Given the description of an element on the screen output the (x, y) to click on. 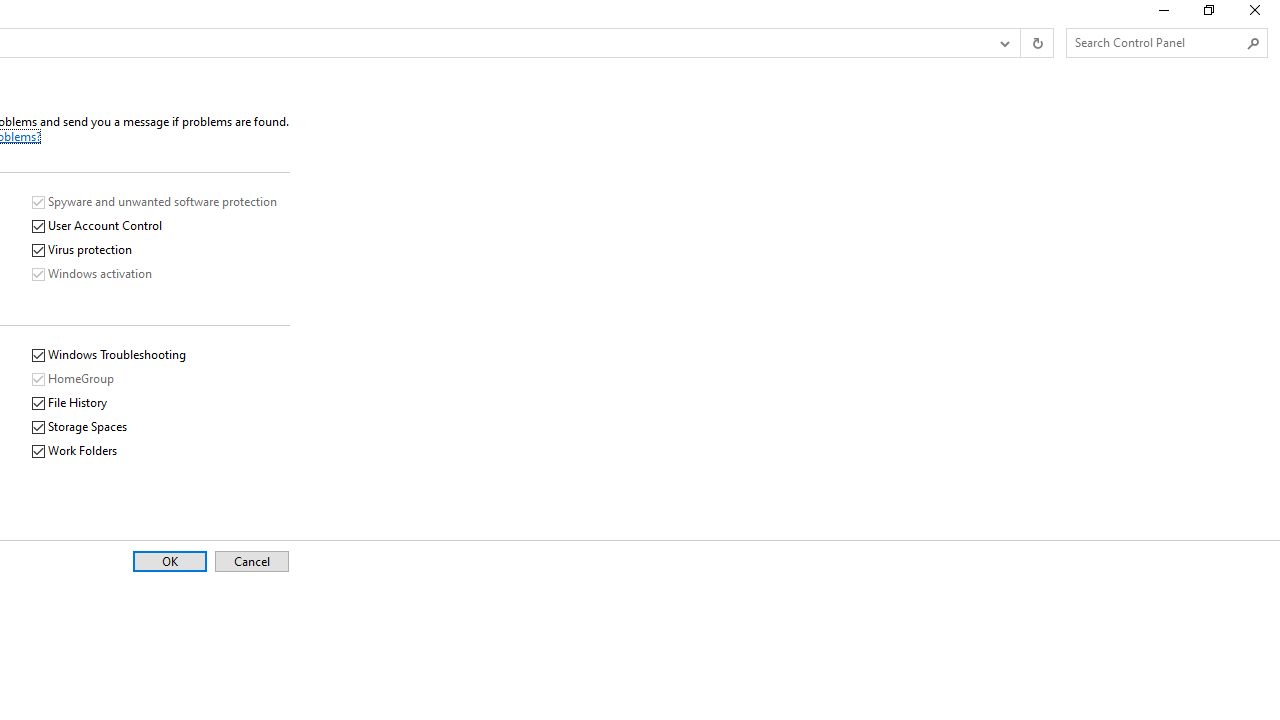
Search Box (1156, 42)
Windows Troubleshooting (110, 355)
OK (169, 561)
Work Folders (75, 451)
Cancel (251, 561)
Storage Spaces (80, 427)
Virus protection (83, 250)
Windows activation (92, 273)
Restore (1208, 14)
File History (70, 403)
Spyware and unwanted software protection (155, 201)
Previous Locations (1003, 43)
Minimize (1162, 14)
Search (1253, 43)
User Account Control (97, 226)
